Given the description of an element on the screen output the (x, y) to click on. 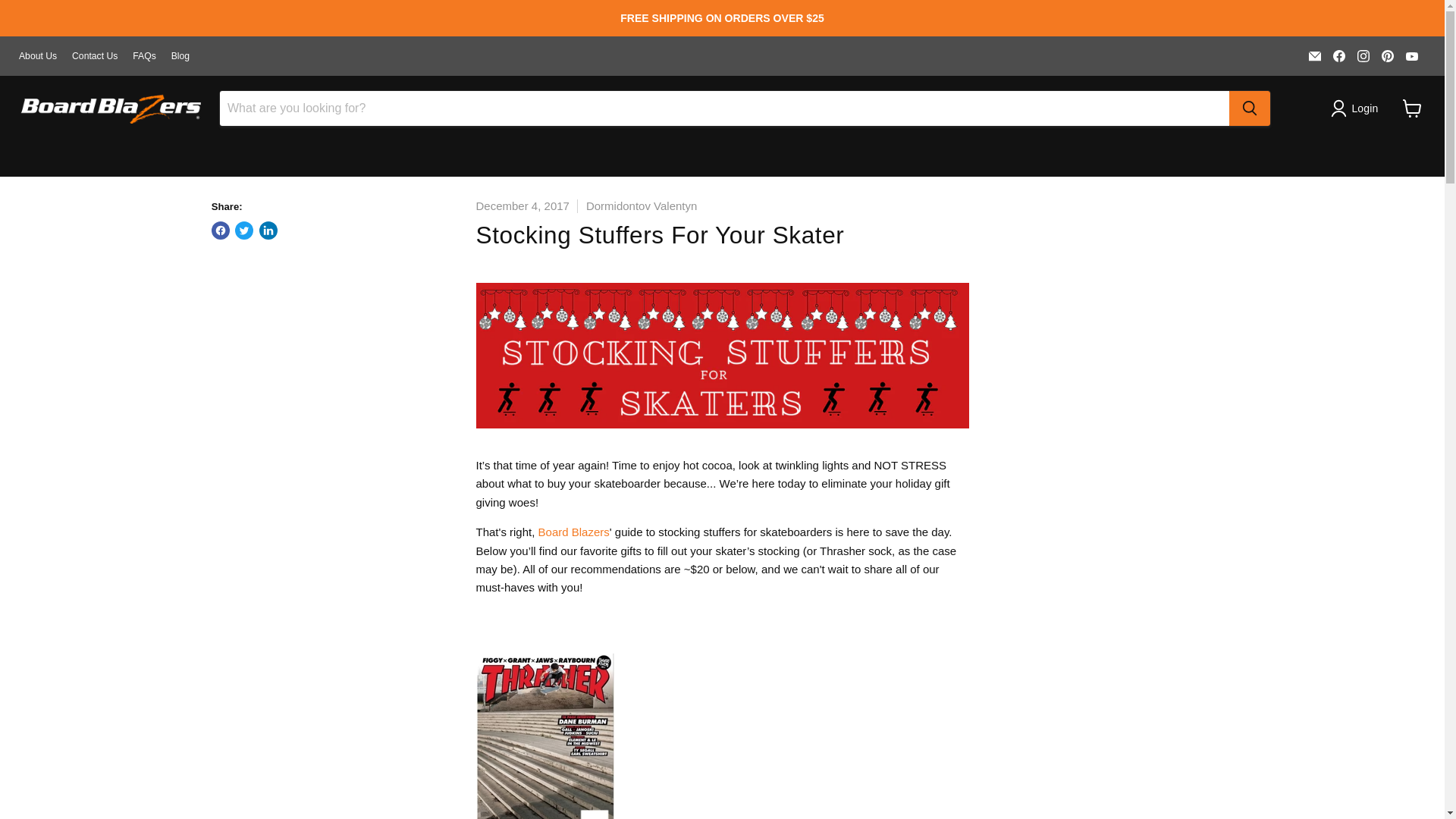
FAQs (143, 55)
Login (1357, 108)
Find us on Facebook (1338, 55)
Blog (180, 55)
Instagram (1363, 55)
Find us on Instagram (1363, 55)
Email Board Blazers (1314, 55)
Find us on Pinterest (1387, 55)
Board Blazers Skateboard Lights (574, 531)
YouTube (1411, 55)
View cart (1411, 108)
Facebook (1338, 55)
Email (1314, 55)
Find us on YouTube (1411, 55)
About Us (37, 55)
